Given the description of an element on the screen output the (x, y) to click on. 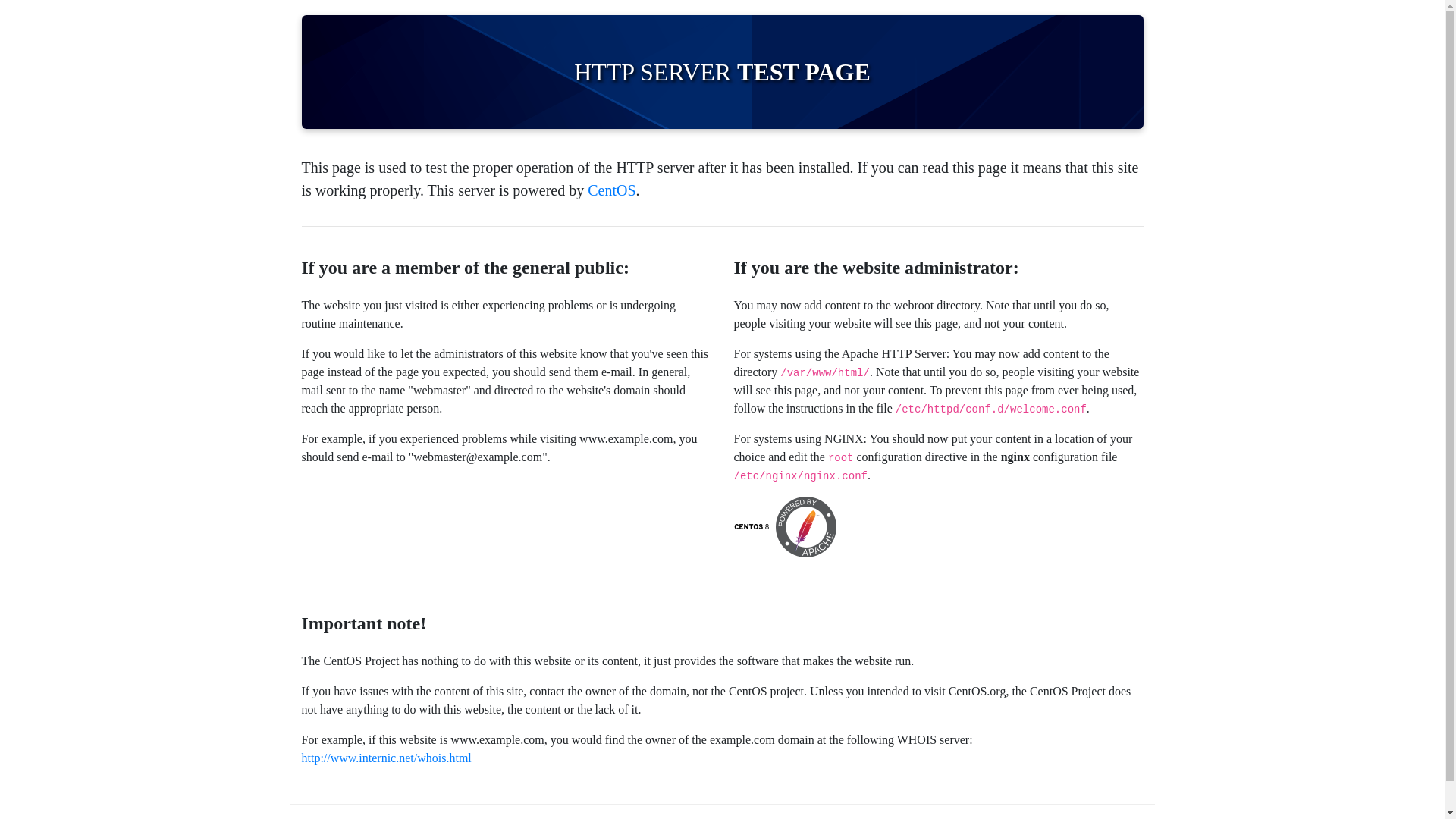
CentOS Element type: text (611, 190)
http://www.internic.net/whois.html Element type: text (386, 757)
